Given the description of an element on the screen output the (x, y) to click on. 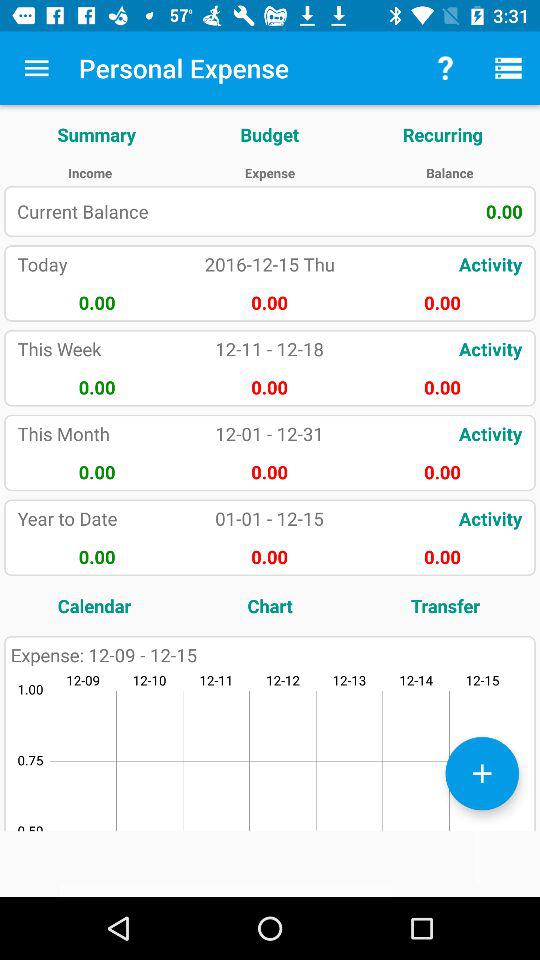
adiction (482, 773)
